Given the description of an element on the screen output the (x, y) to click on. 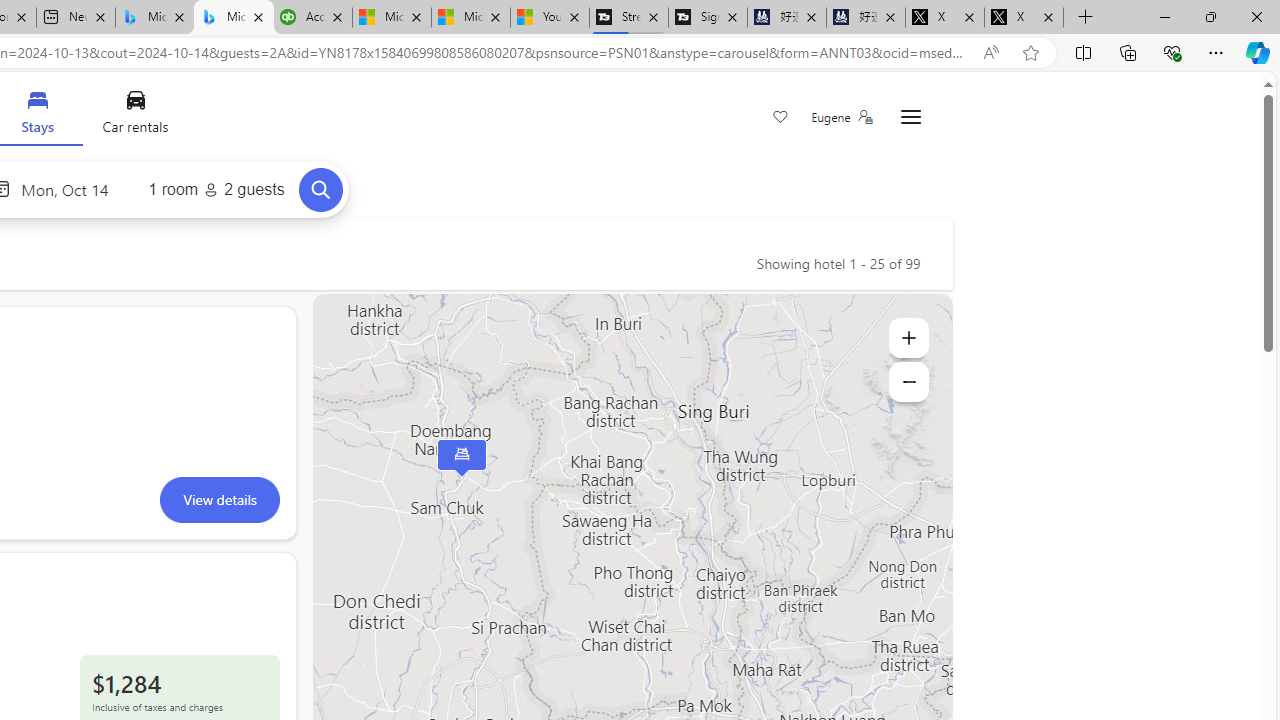
Collections (1128, 52)
Eugene (841, 117)
Microsoft Start Sports (392, 17)
